Given the description of an element on the screen output the (x, y) to click on. 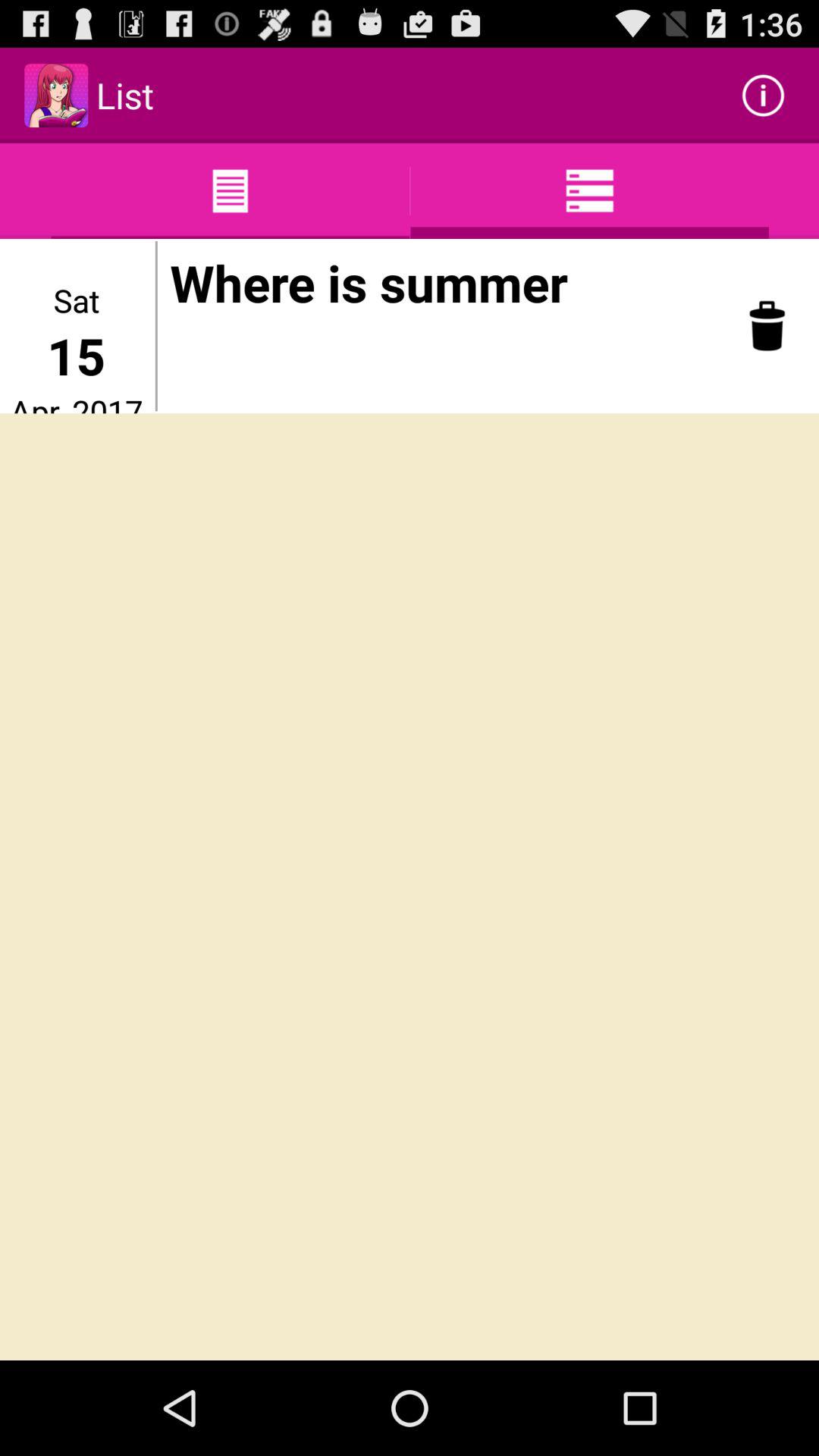
tap item next to the apr, 2017 icon (156, 326)
